Given the description of an element on the screen output the (x, y) to click on. 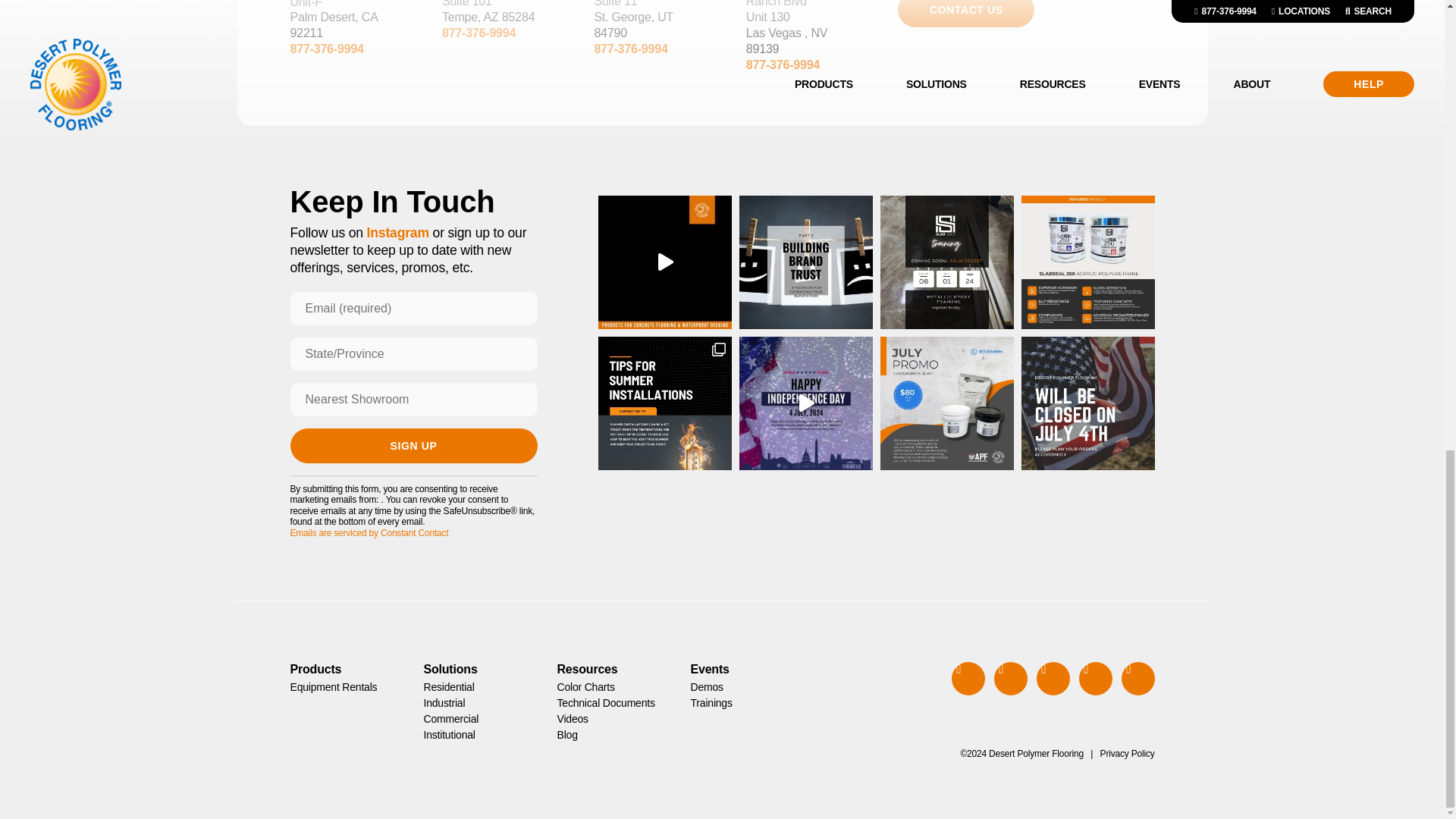
Sign up (413, 445)
